Given the description of an element on the screen output the (x, y) to click on. 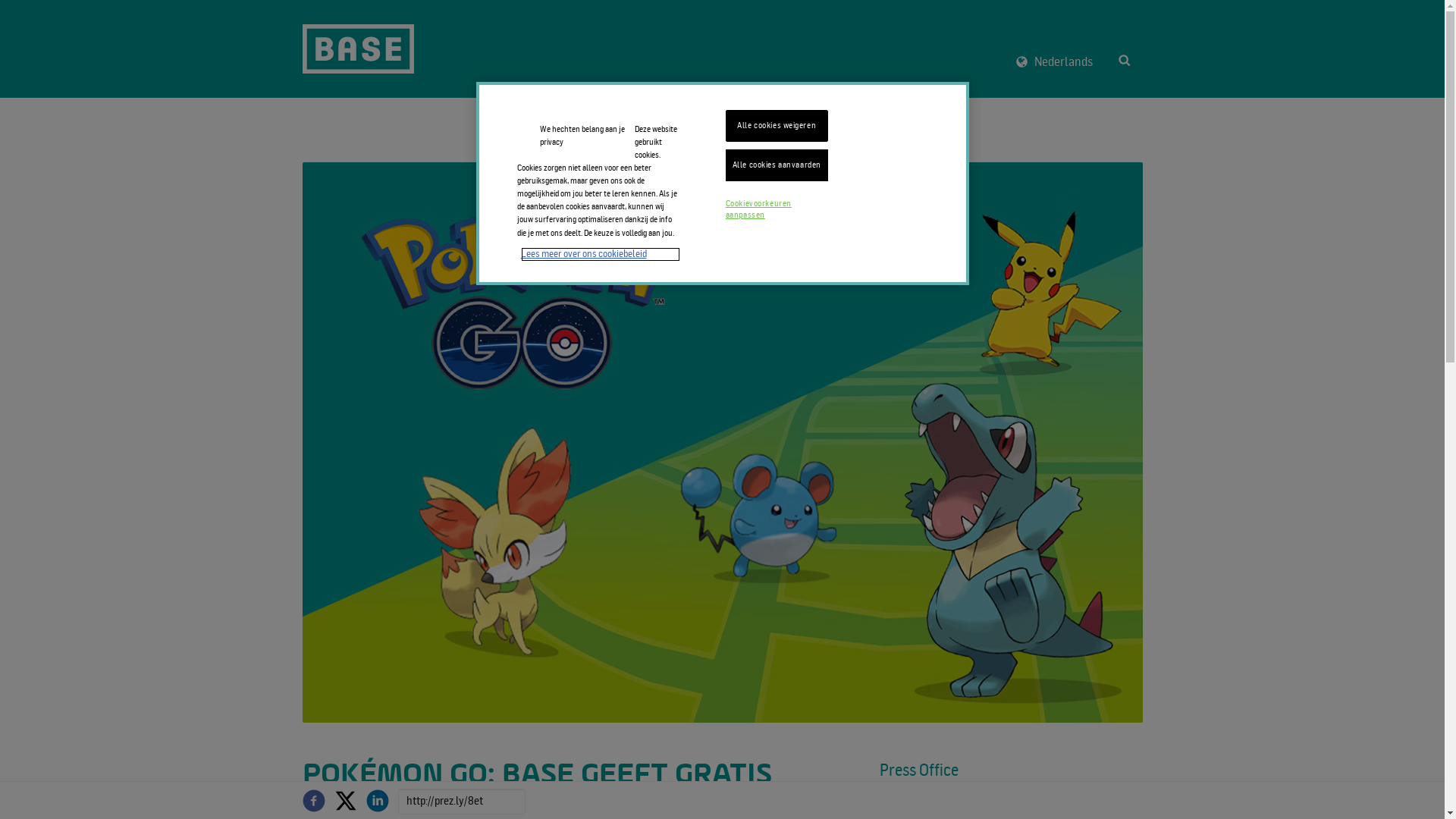
Lees meer over ons cookiebeleid Element type: text (599, 254)
delen op Twitter Element type: hover (344, 799)
Alle cookies aanvaarden Element type: text (776, 165)
http://prez.ly/8et Element type: text (460, 801)
Alle cookies weigeren Element type: text (776, 125)
Telenet Group NV Element type: hover (357, 47)
Zoek in de newsroom Element type: hover (1124, 59)
Nederlands Element type: text (1054, 61)
Short URL Element type: hover (460, 801)
Skip to Content Element type: text (301, 0)
Cookievoorkeuren aanpassen Element type: text (776, 209)
delen op LinkedIn Element type: hover (376, 799)
delen op Facebook Element type: hover (312, 799)
